Given the description of an element on the screen output the (x, y) to click on. 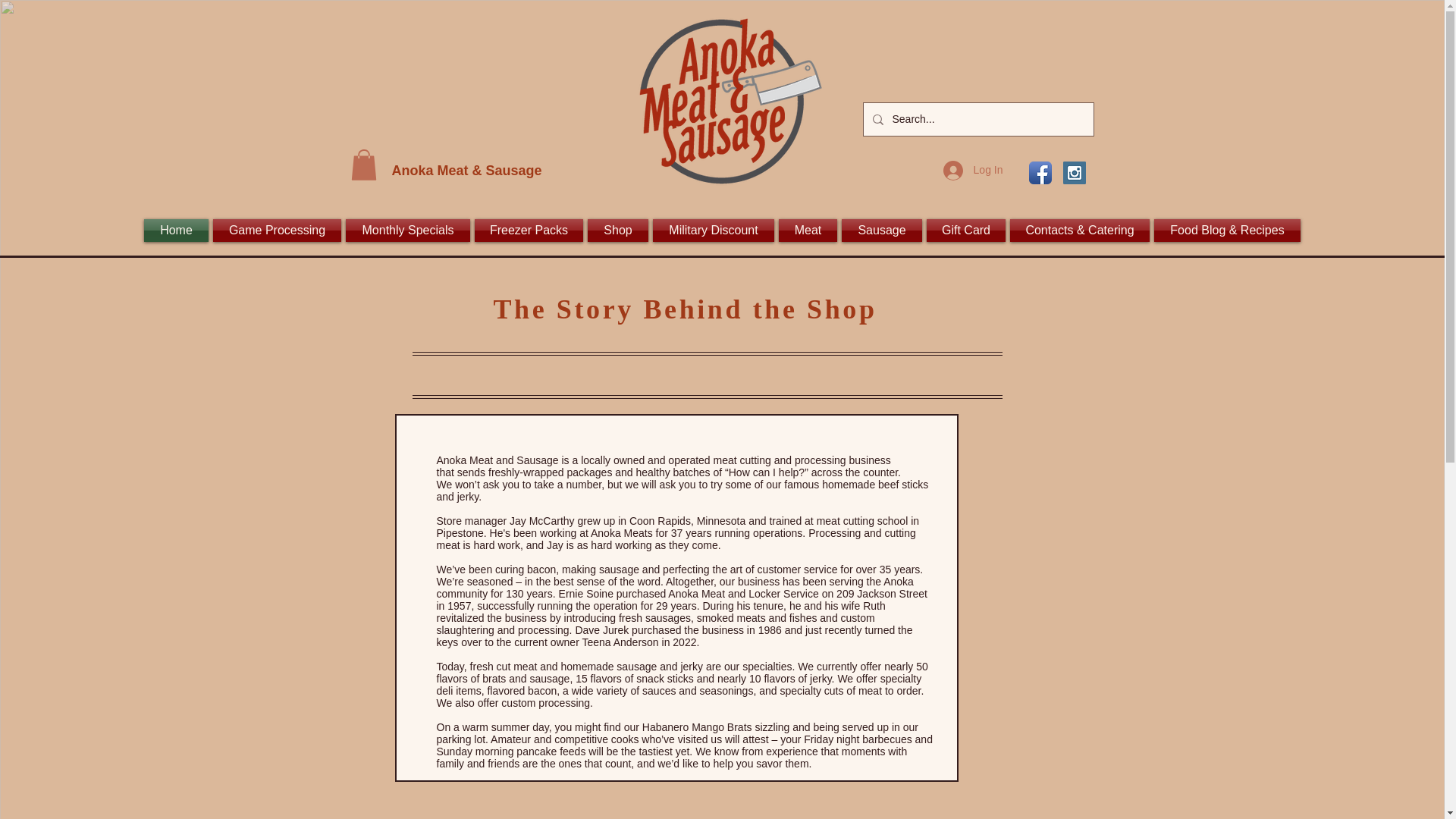
Monthly Specials (407, 230)
Shop (617, 230)
Meat (808, 230)
Military Discount (713, 230)
Log In (973, 170)
Freezer Packs (528, 230)
Game Processing (277, 230)
Sausage (882, 230)
Gift Card (965, 230)
Home (177, 230)
